Given the description of an element on the screen output the (x, y) to click on. 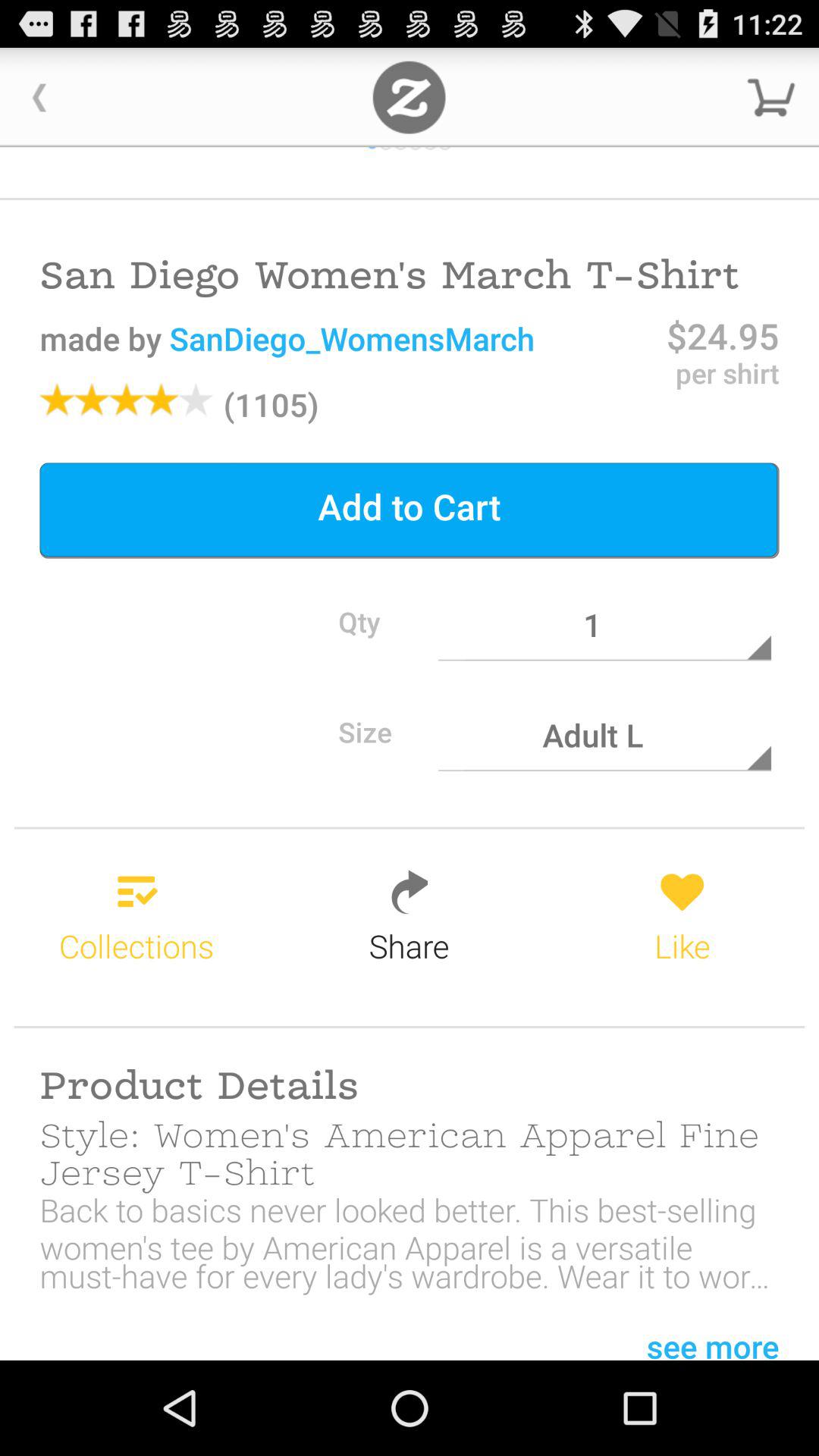
go to back button (39, 97)
